Given the description of an element on the screen output the (x, y) to click on. 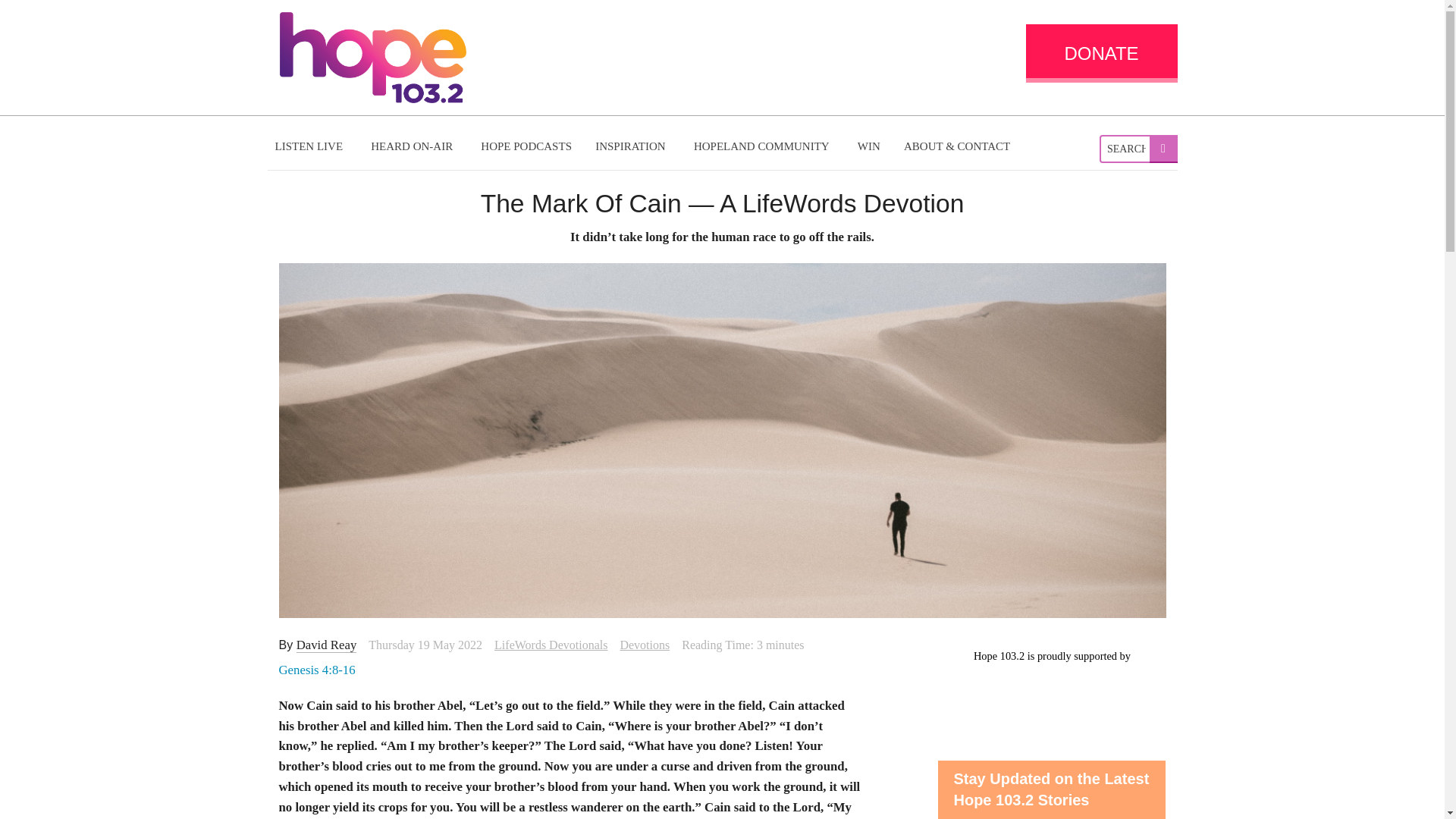
HEARD ON-AIR (413, 146)
INSPIRATION (633, 146)
LISTEN LIVE (310, 146)
HOPE PODCASTS (526, 146)
HOPELAND COMMUNITY (763, 146)
DONATE (1100, 53)
